Given the description of an element on the screen output the (x, y) to click on. 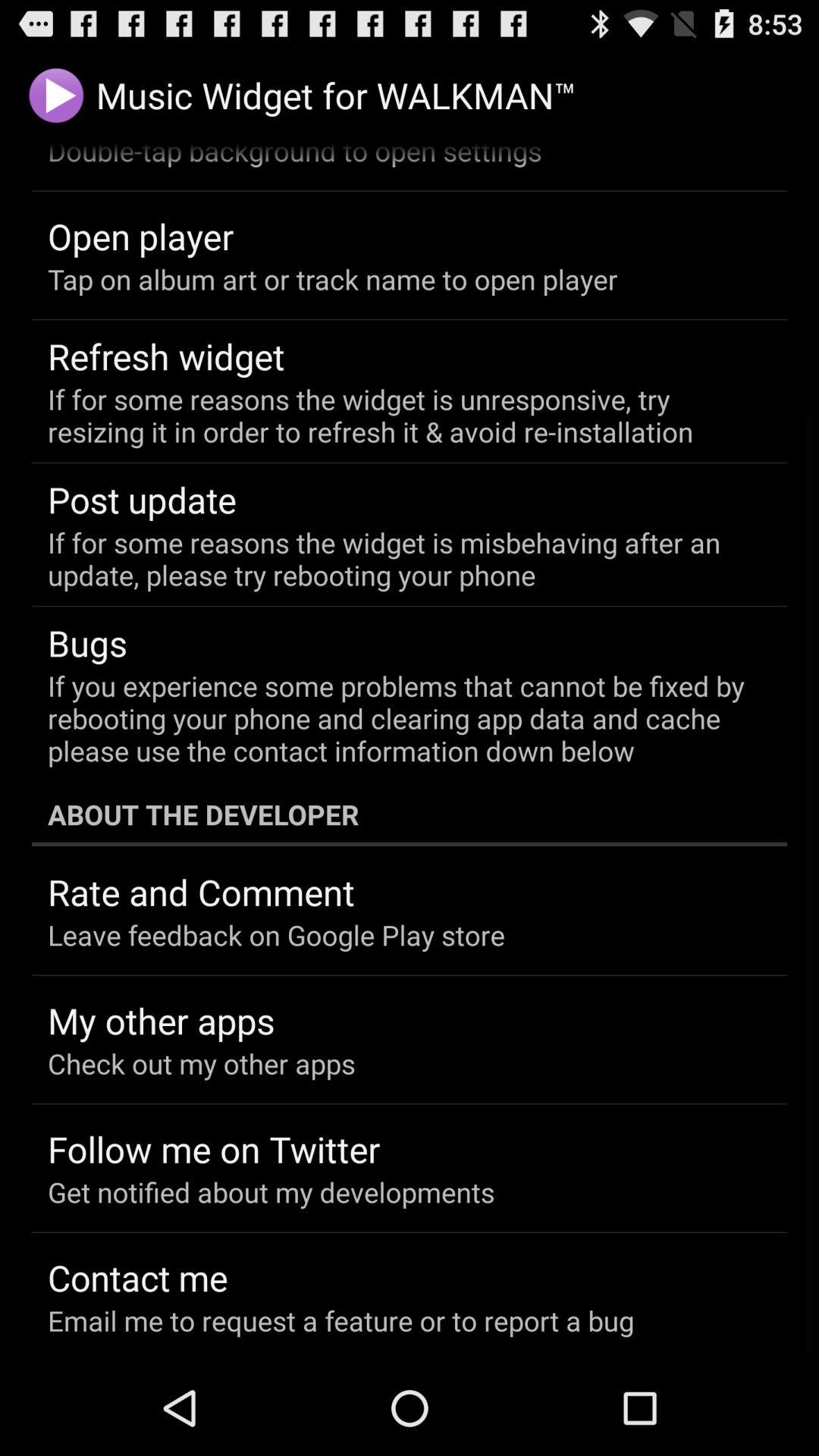
scroll to tap on album (332, 279)
